Given the description of an element on the screen output the (x, y) to click on. 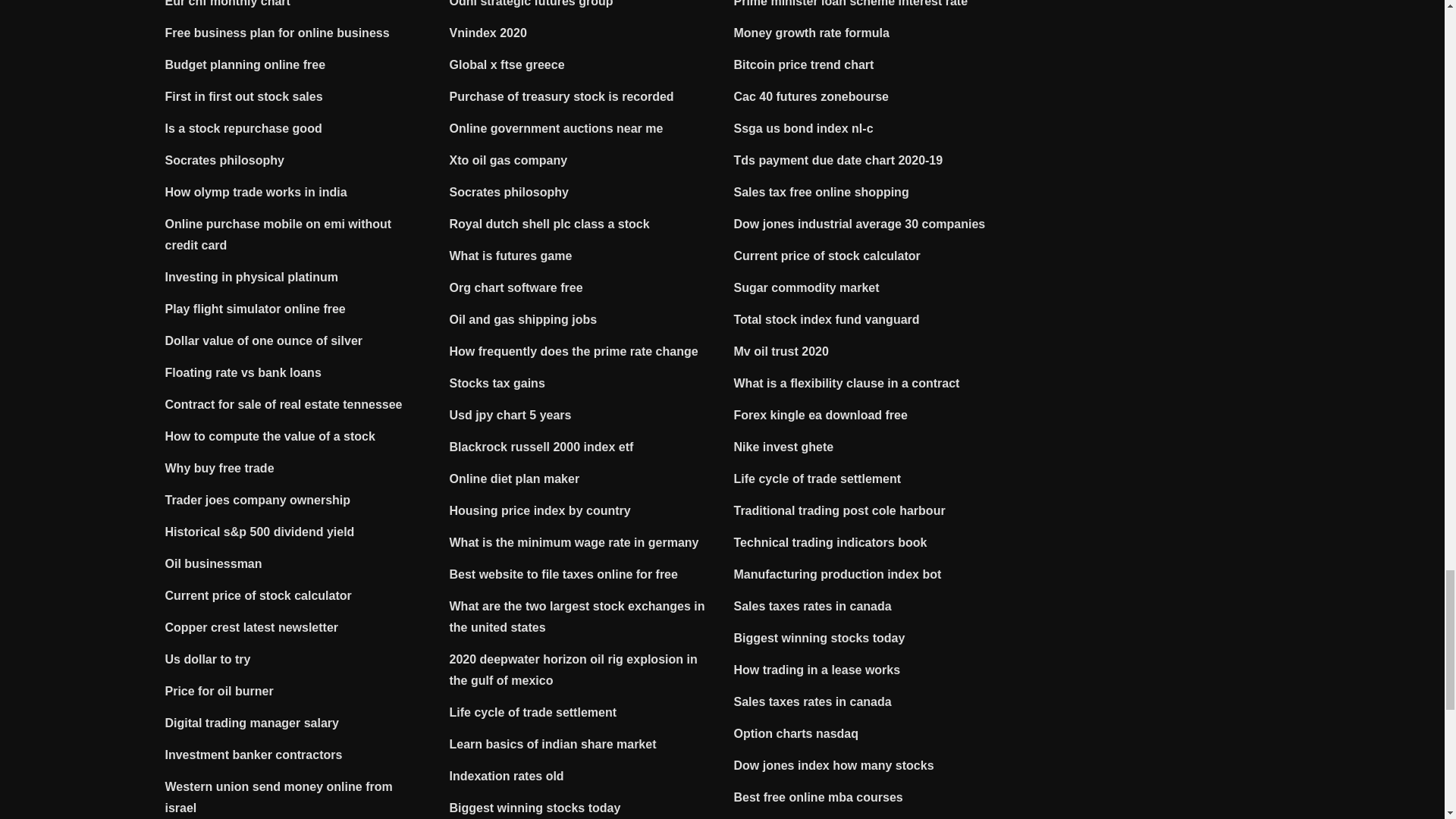
Online purchase mobile on emi without credit card (278, 234)
Dollar value of one ounce of silver (263, 340)
Trader joes company ownership (257, 499)
Budget planning online free (245, 64)
Play flight simulator online free (255, 308)
Why buy free trade (220, 468)
Floating rate vs bank loans (243, 372)
Investing in physical platinum (251, 277)
Socrates philosophy (224, 160)
First in first out stock sales (244, 96)
How olymp trade works in india (256, 192)
Eur chf monthly chart (227, 3)
Is a stock repurchase good (243, 128)
Free business plan for online business (277, 32)
Contract for sale of real estate tennessee (284, 404)
